Given the description of an element on the screen output the (x, y) to click on. 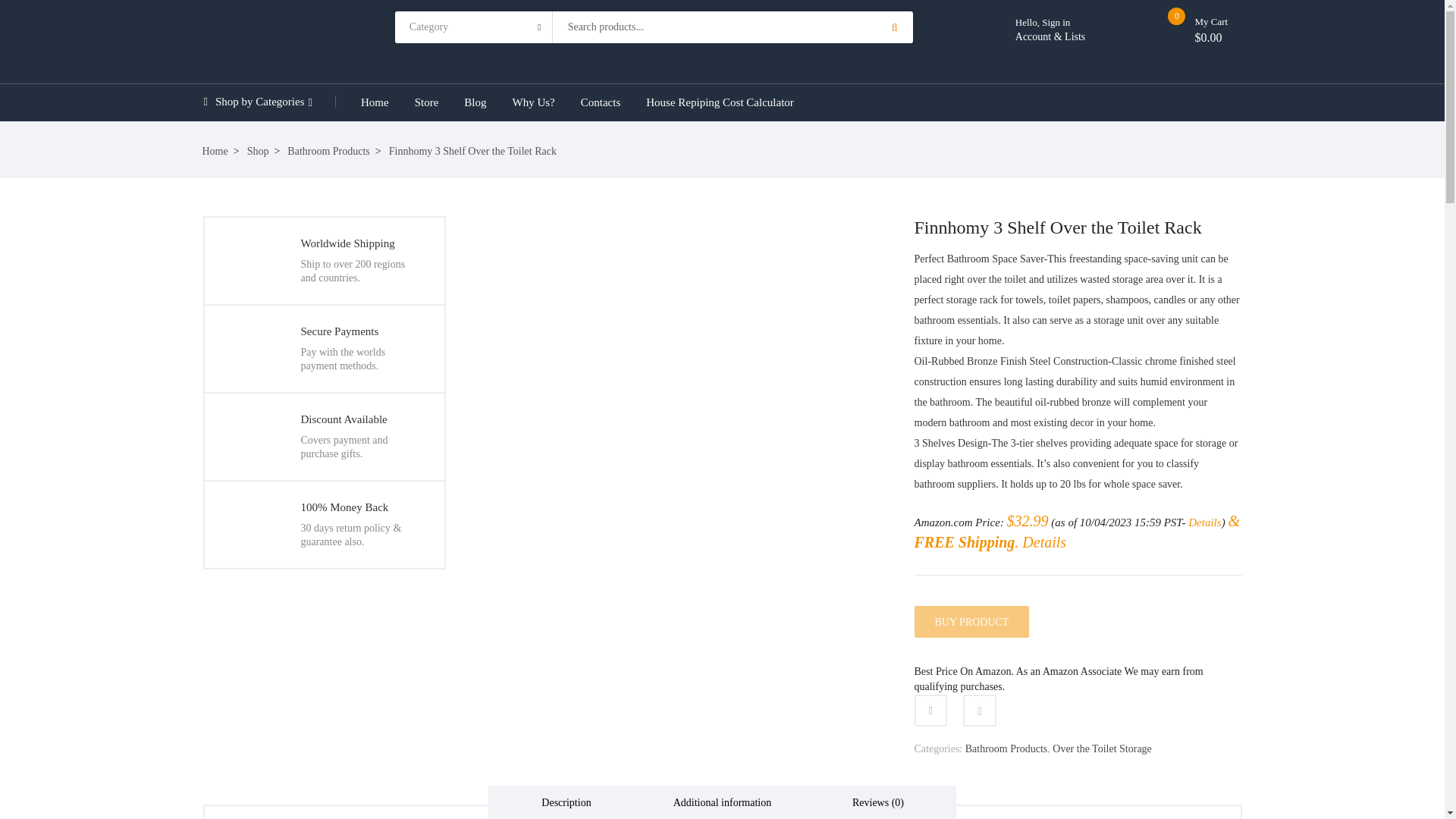
My Cart (1224, 22)
Log In (538, 483)
Shop (264, 151)
Home (220, 151)
Why Us? (533, 102)
Details (1204, 522)
View your shopping cart (1209, 37)
Blog (475, 102)
Home (374, 102)
Store (426, 102)
House Repiping Cost Calculator (719, 102)
Contacts (600, 102)
Bathroom Products (333, 151)
Shop by Categories (268, 102)
